Given the description of an element on the screen output the (x, y) to click on. 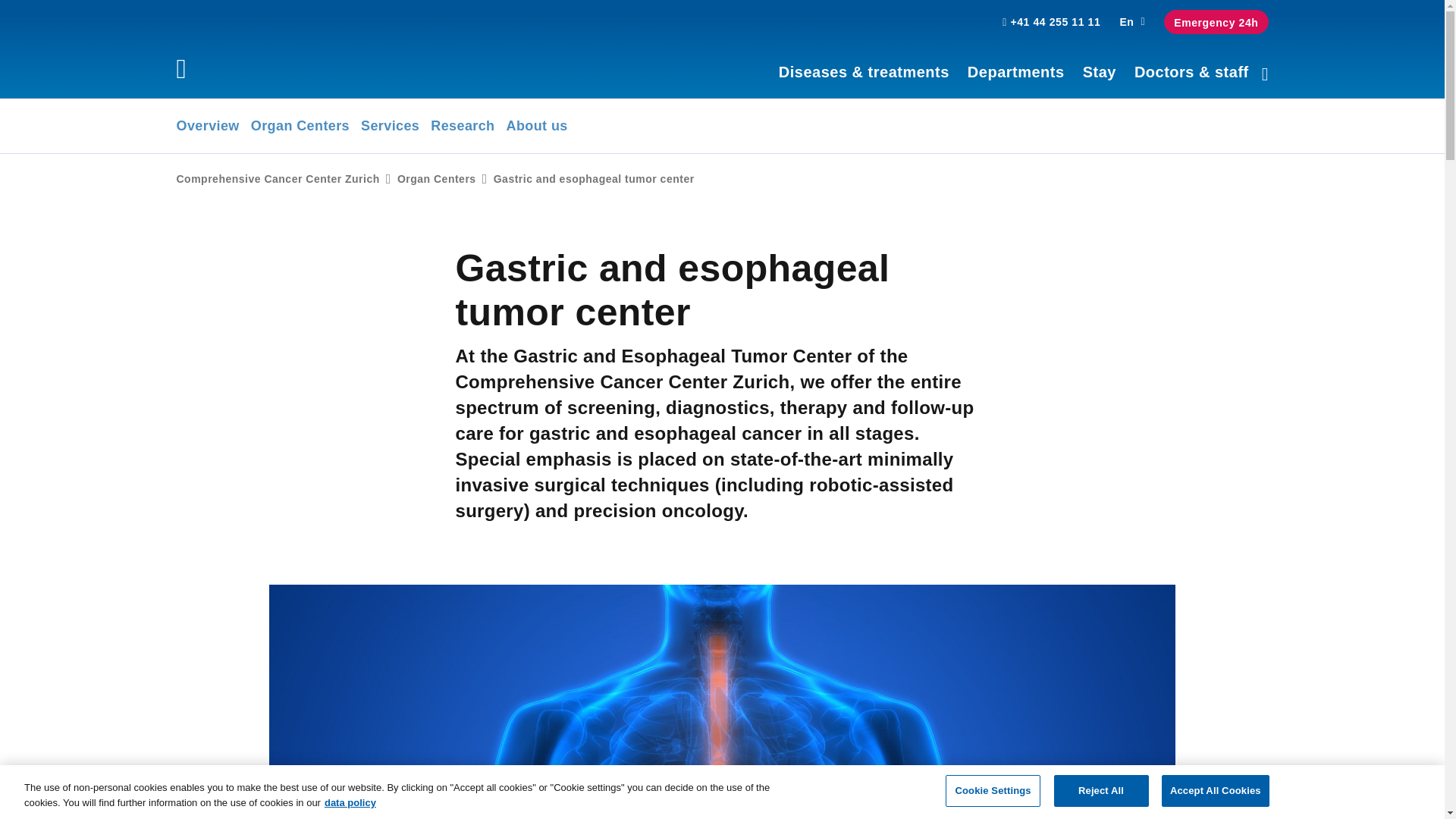
Departments (1015, 72)
Comprehensive Cancer Center Zurich (277, 178)
Gastric and esophageal tumor center (593, 178)
Organ Centers (299, 125)
Services (390, 125)
Research (462, 125)
Stay (1098, 72)
En (1131, 21)
Overview (207, 125)
Emergency 24h (1215, 21)
